Given the description of an element on the screen output the (x, y) to click on. 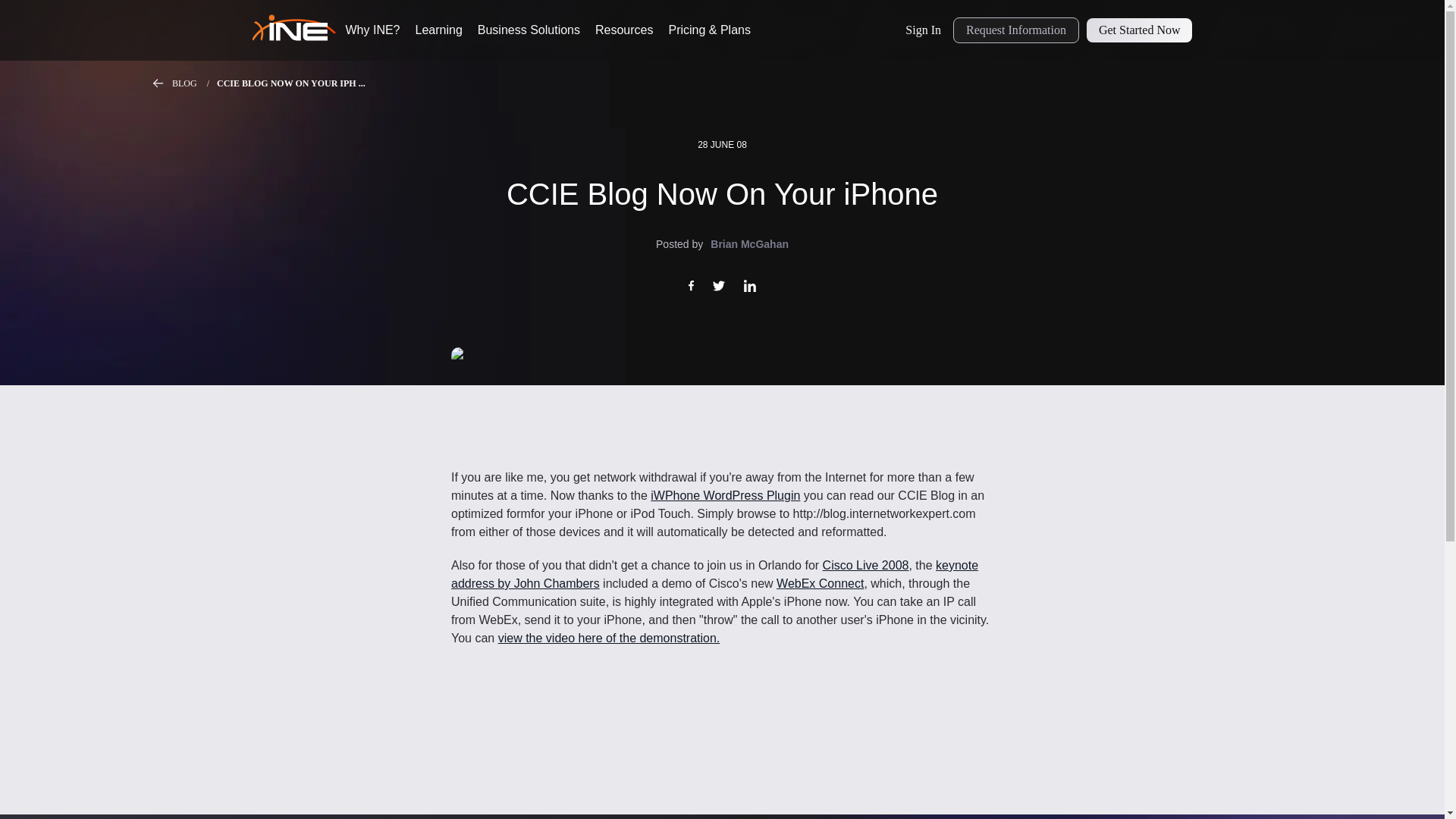
WebEx Connect (819, 583)
iWPhone WordPress Plugin (724, 495)
Why INE? (373, 30)
Sign In (923, 30)
keynote address by John Chambers (714, 573)
WebEx Connect (819, 583)
view the video here of the demonstration. (608, 637)
Request Information (1015, 30)
BLOG (193, 83)
Get Started Now (1139, 30)
Business Solutions (528, 30)
Cisco Live 2008 (865, 564)
Resources (623, 30)
